Given the description of an element on the screen output the (x, y) to click on. 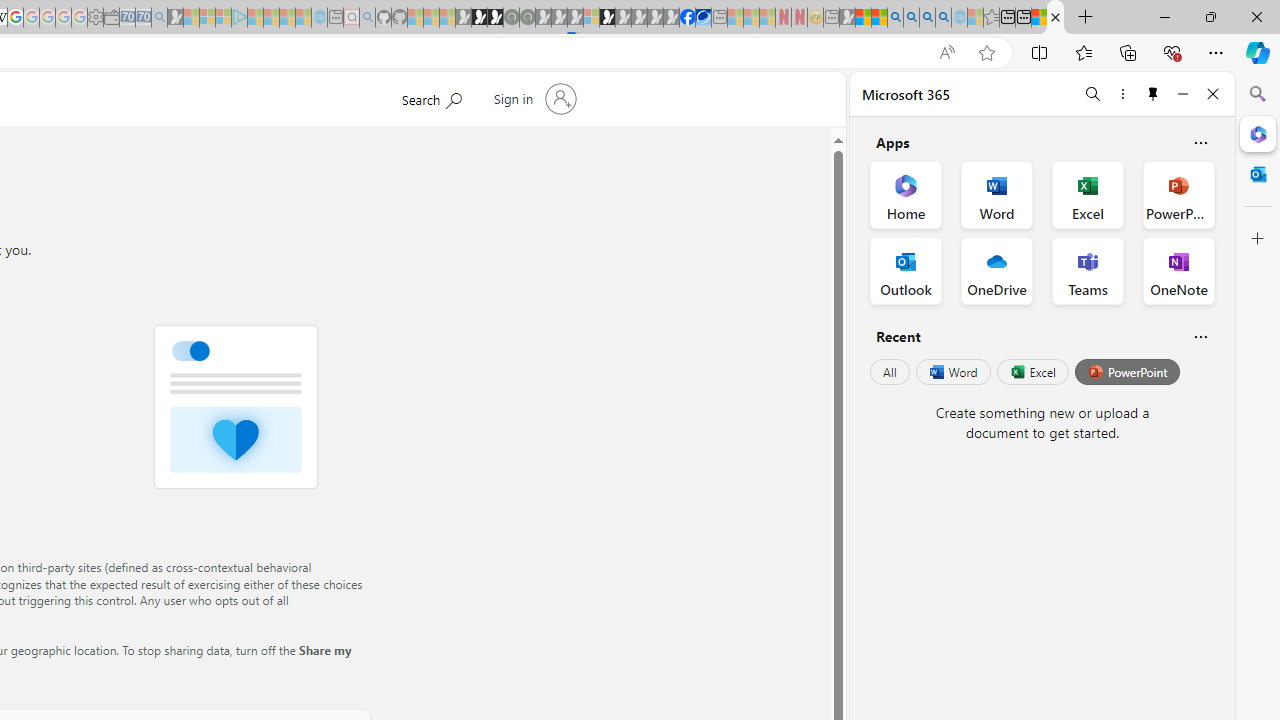
Nordace | Facebook (687, 17)
All (890, 372)
2009 Bing officially replaced Live Search on June 3 - Search (911, 17)
AirNow.gov (703, 17)
OneDrive Office App (996, 270)
